Given the description of an element on the screen output the (x, y) to click on. 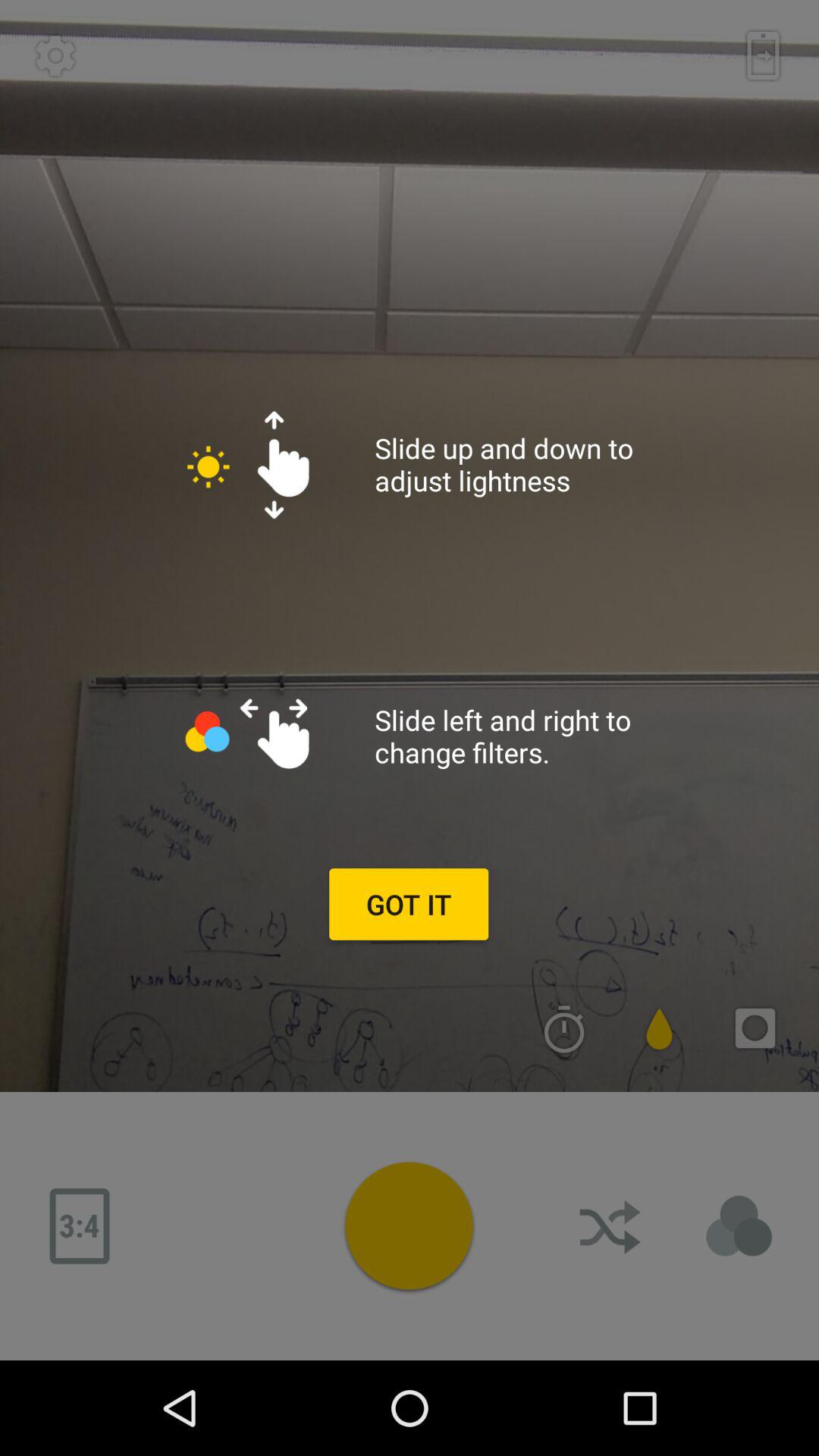
click to the record (408, 1225)
